Given the description of an element on the screen output the (x, y) to click on. 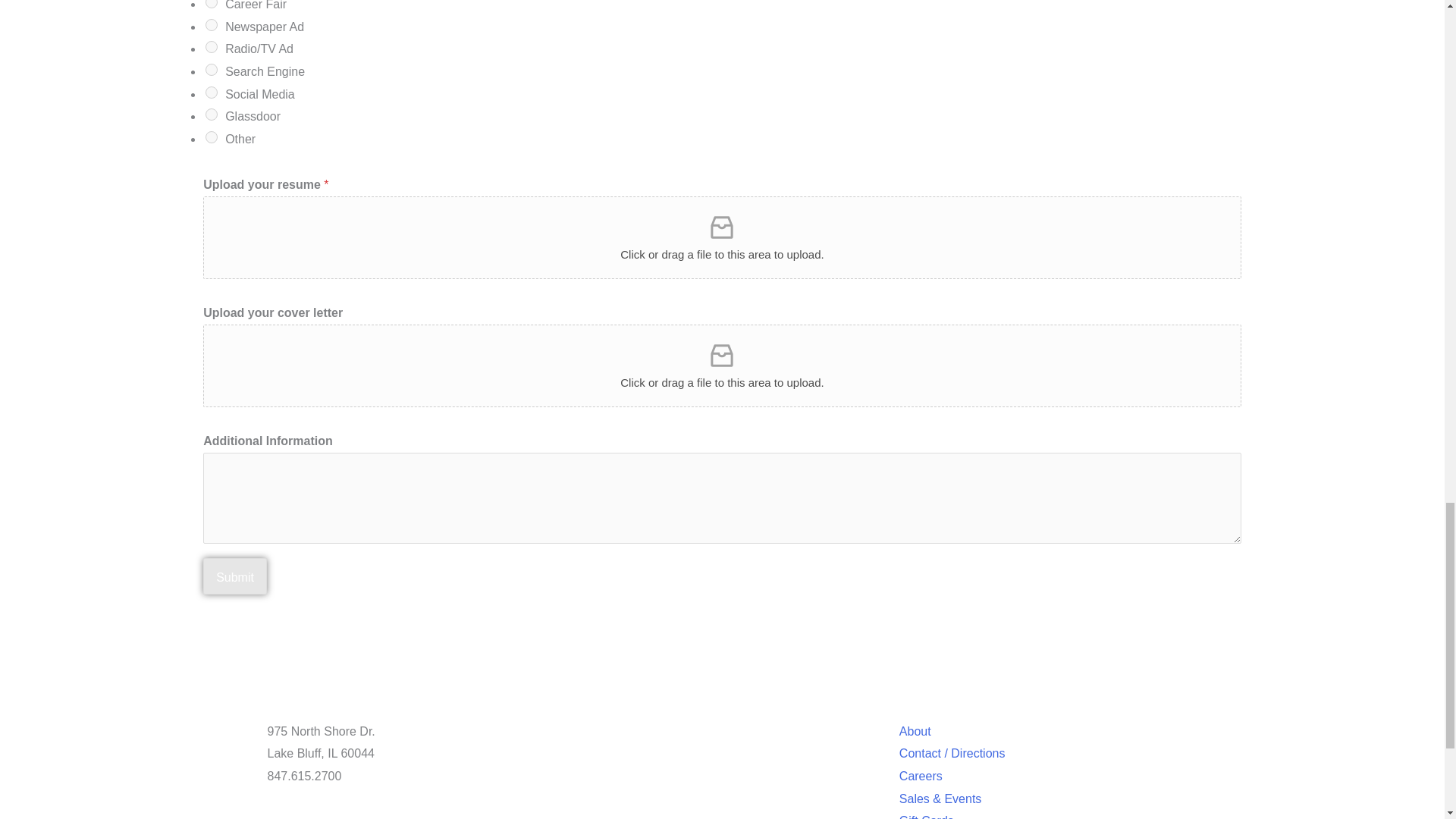
Newspaper Ad (210, 24)
Social Media (210, 92)
Glassdoor (210, 114)
Search Engine (210, 69)
Career Fair (210, 4)
Other (210, 137)
